Given the description of an element on the screen output the (x, y) to click on. 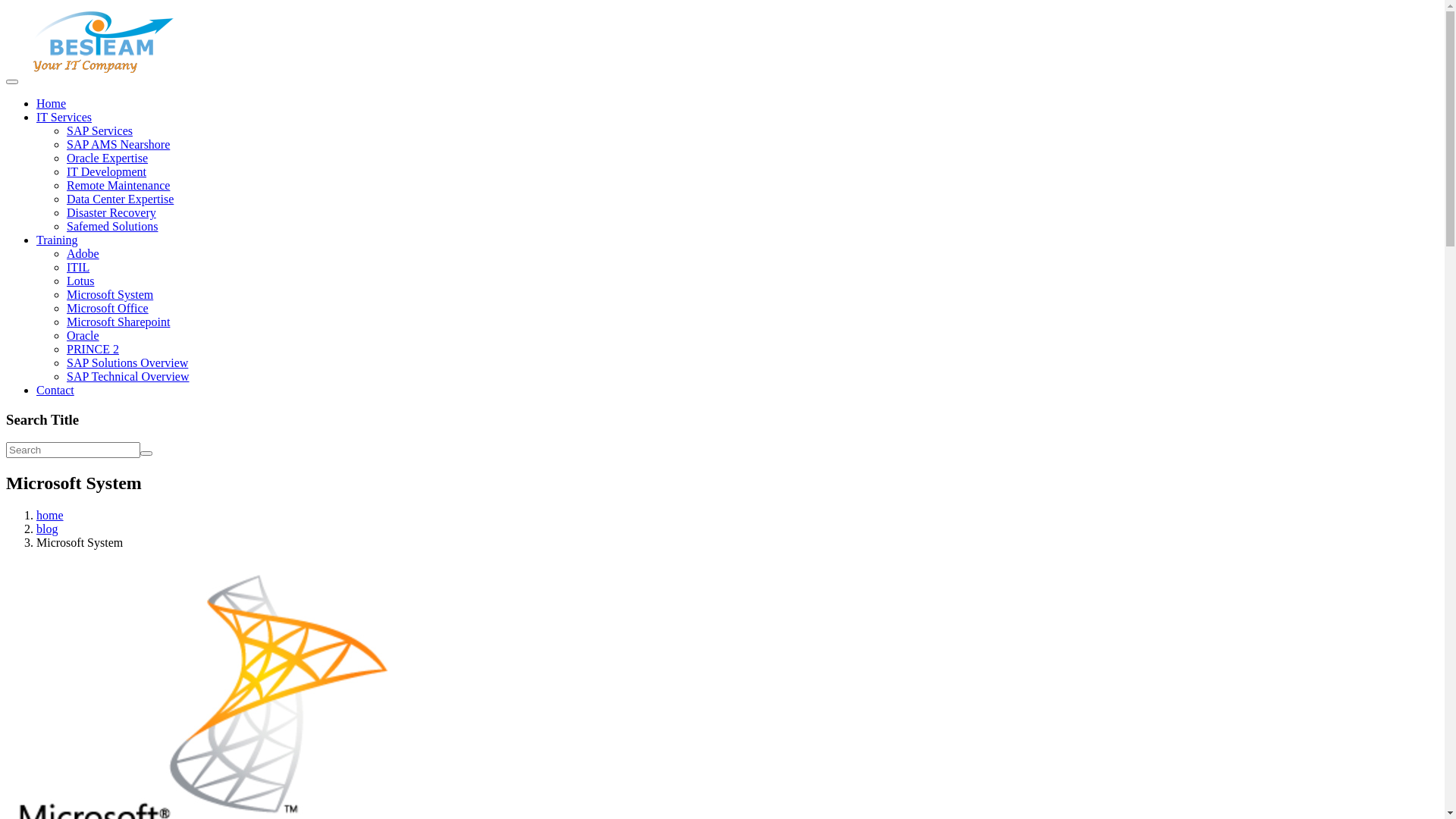
SAP Services Element type: text (99, 130)
SAP Solutions Overview Element type: text (127, 362)
Remote Maintenance Element type: text (117, 184)
SAP AMS Nearshore Element type: text (117, 144)
Search Element type: text (146, 453)
Microsoft Office Element type: text (107, 307)
IT Development Element type: text (106, 171)
Home Element type: text (50, 103)
Microsoft System Element type: text (109, 294)
Training Element type: text (57, 239)
Lotus Element type: text (80, 280)
blog Element type: text (46, 528)
home Element type: text (49, 514)
Adobe Element type: text (82, 253)
Disaster Recovery Element type: text (111, 212)
IT Services Element type: text (63, 116)
Microsoft Sharepoint Element type: text (117, 321)
PRINCE 2 Element type: text (92, 348)
Safemed Solutions Element type: text (111, 225)
Oracle Element type: text (82, 335)
Oracle Expertise Element type: text (106, 157)
Contact Element type: text (55, 389)
Data Center Expertise Element type: text (119, 198)
ITIL Element type: text (77, 266)
SAP Technical Overview Element type: text (127, 376)
